Given the description of an element on the screen output the (x, y) to click on. 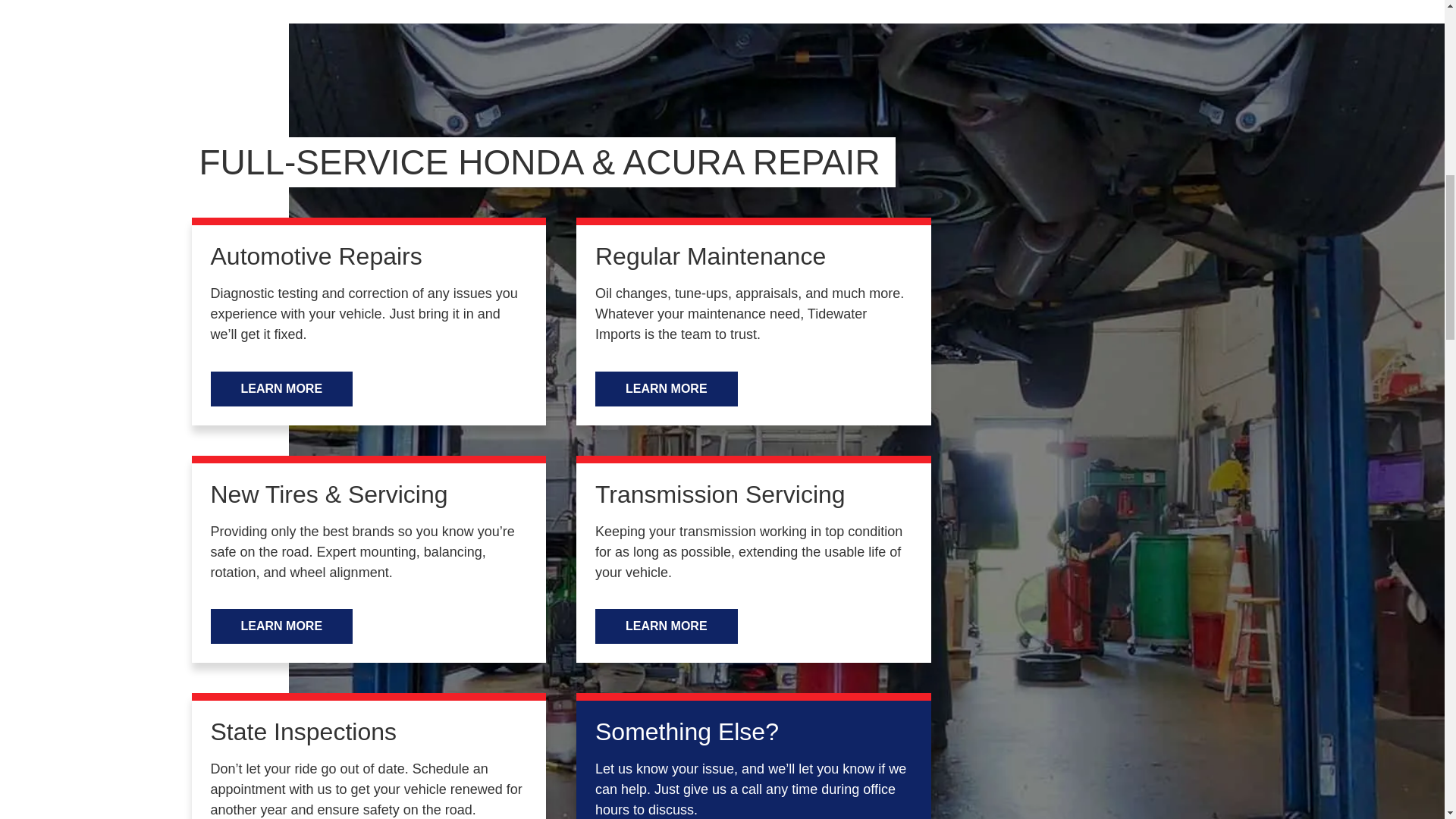
Regular Maintenance (710, 256)
LEARN MORE (666, 388)
LEARN MORE (282, 626)
Transmission Servicing (720, 493)
LEARN MORE (282, 388)
LEARN MORE (666, 626)
Automotive Repairs (316, 256)
